Given the description of an element on the screen output the (x, y) to click on. 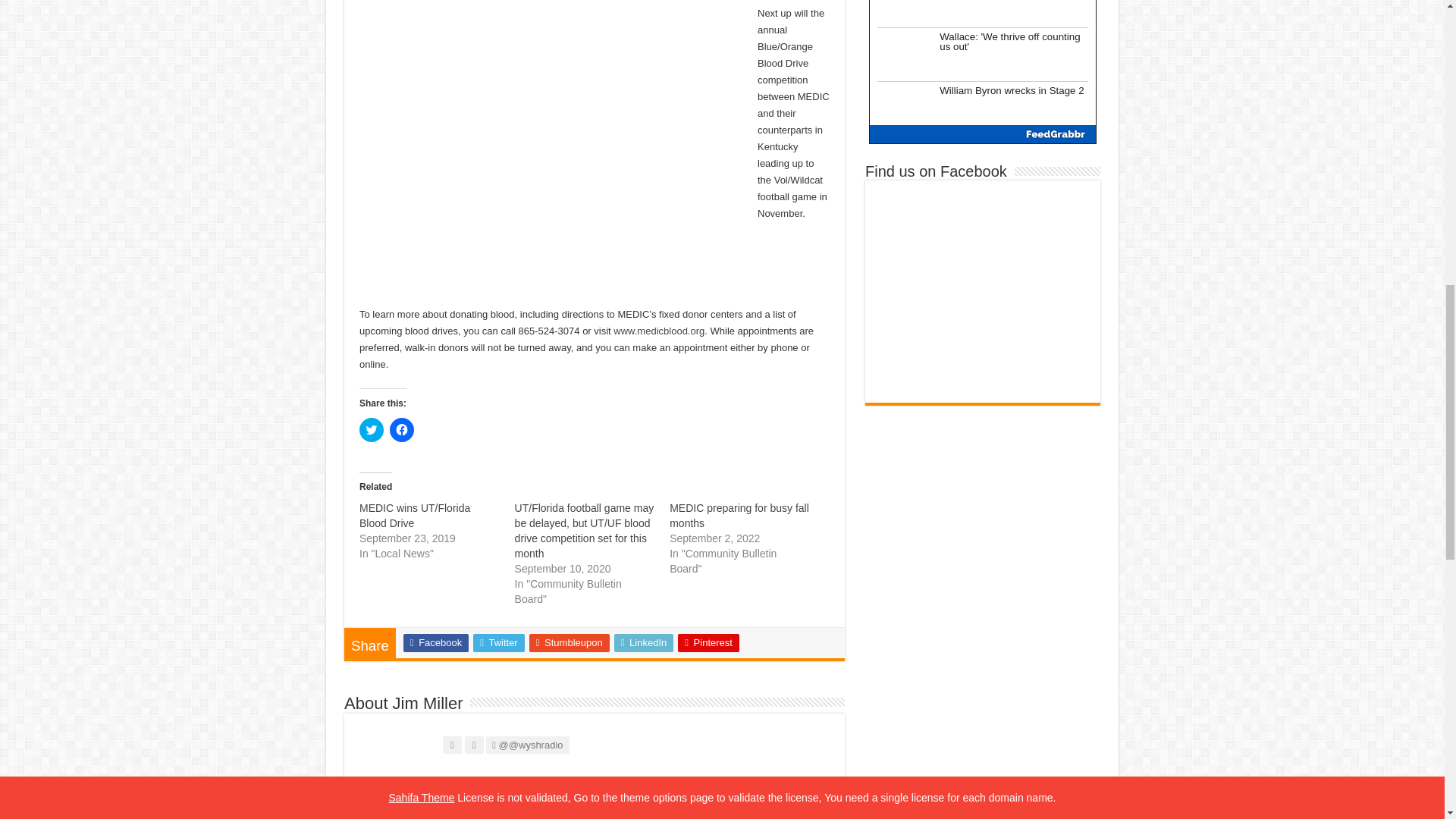
Wallace: 'We thrive off counting us out' (1013, 53)
William Byron wrecks in Stage 2 (1013, 108)
Drivers in focus leaving Indianapolis (1013, 11)
